Given the description of an element on the screen output the (x, y) to click on. 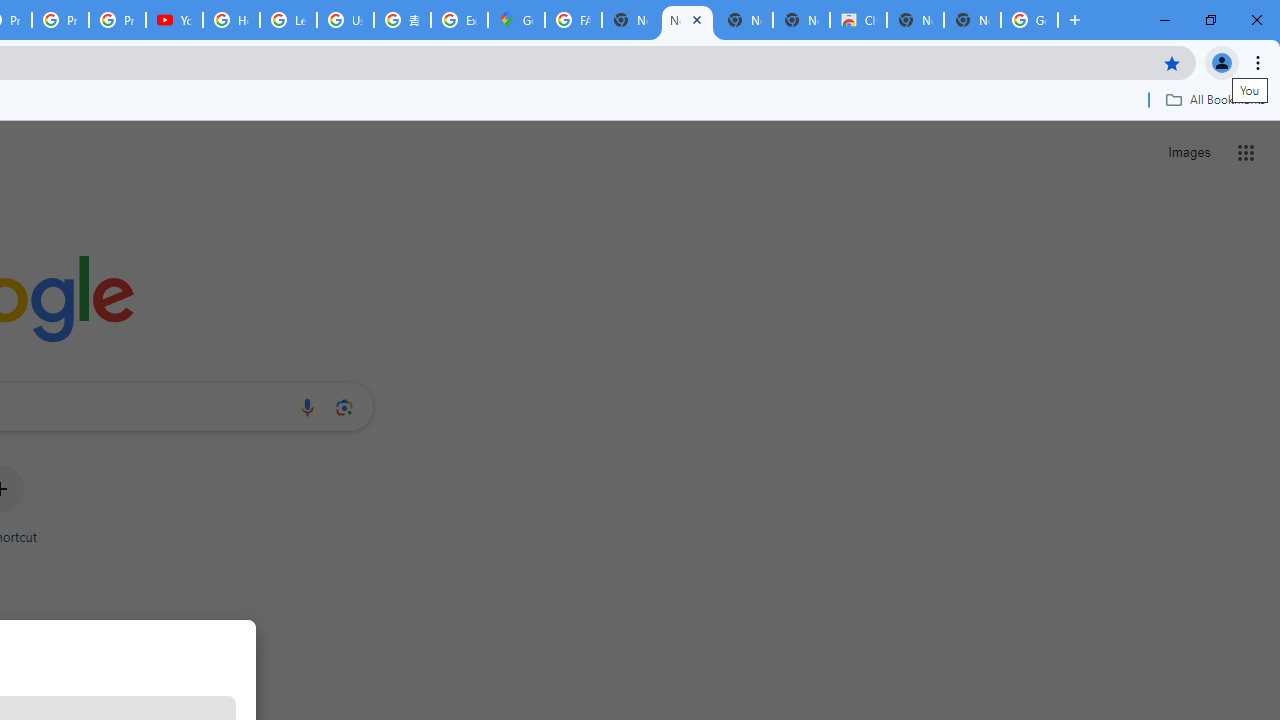
Explore new street-level details - Google Maps Help (459, 20)
Google Images (1029, 20)
Privacy Checkup (60, 20)
Privacy Checkup (116, 20)
YouTube (174, 20)
New Tab (971, 20)
